Given the description of an element on the screen output the (x, y) to click on. 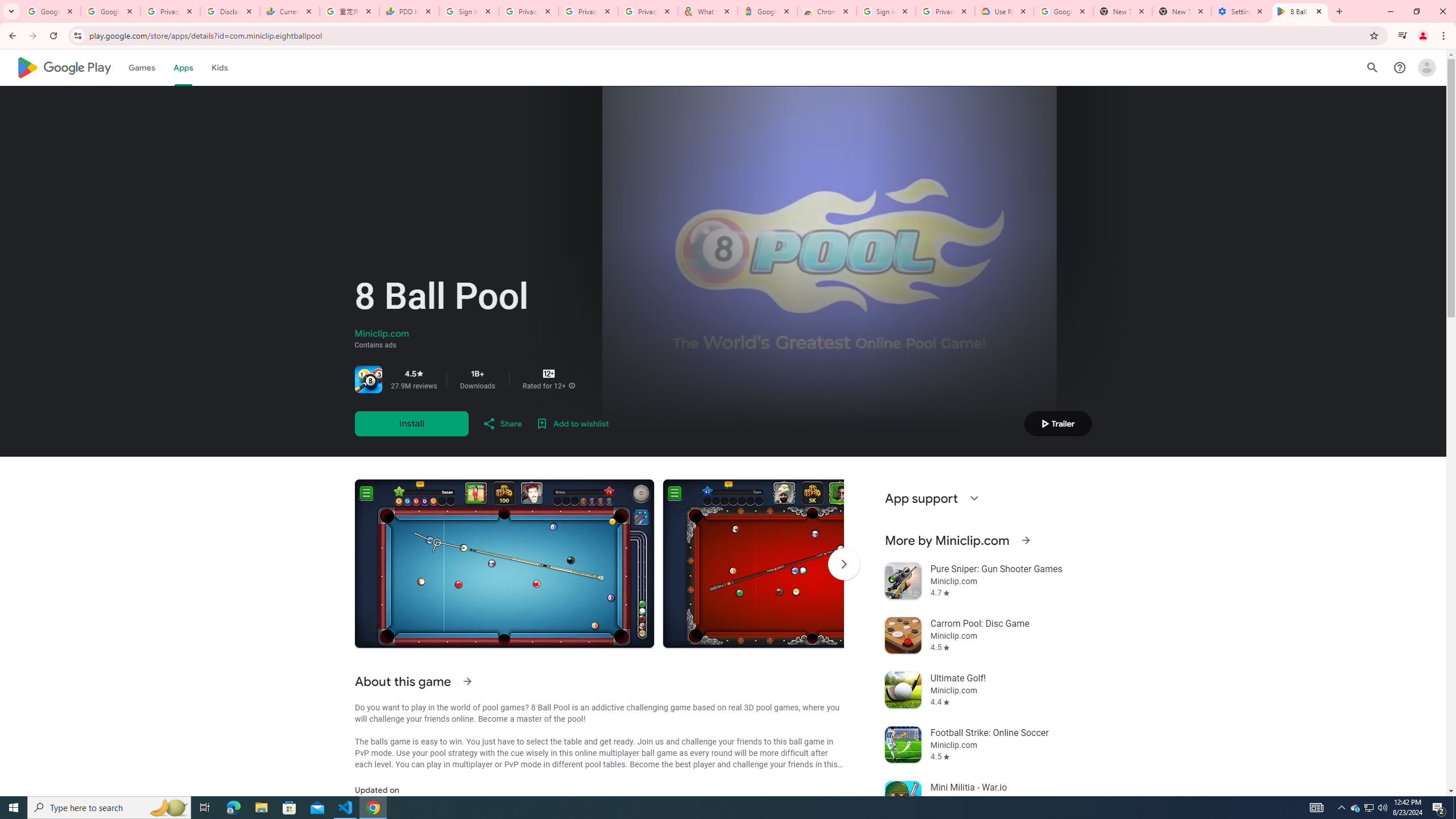
Settings - System (1241, 11)
Screenshot image (812, 563)
Open account menu (1426, 67)
Add to wishlist (571, 422)
PDD Holdings Inc - ADR (PDD) Price & News - Google Finance (409, 11)
